Given the description of an element on the screen output the (x, y) to click on. 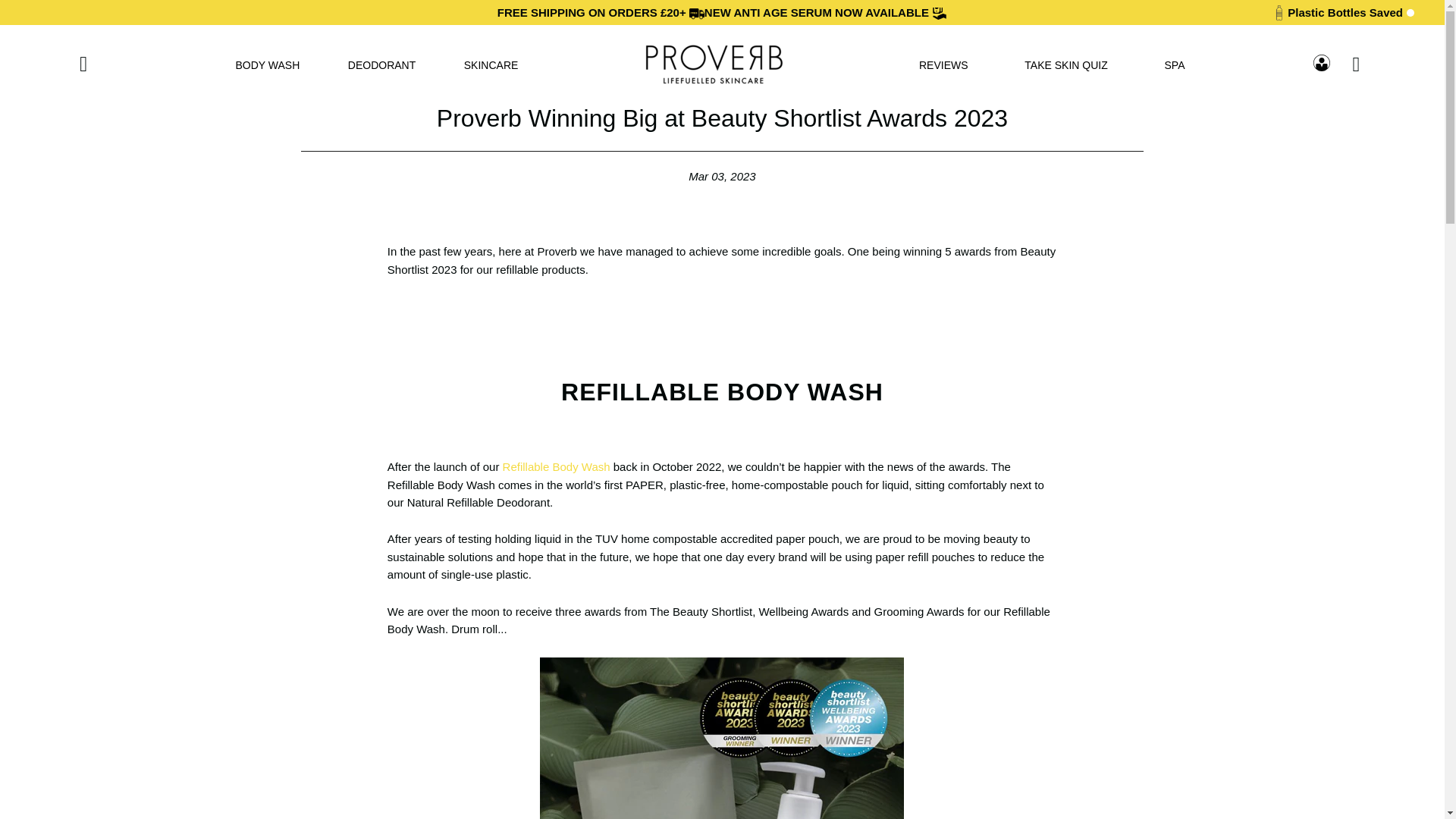
DEODORANT (380, 64)
refillable body wash (556, 466)
TAKE SKIN QUIZ (1065, 64)
SKINCARE (491, 64)
BODY WASH (266, 64)
REVIEWS (943, 64)
